Given the description of an element on the screen output the (x, y) to click on. 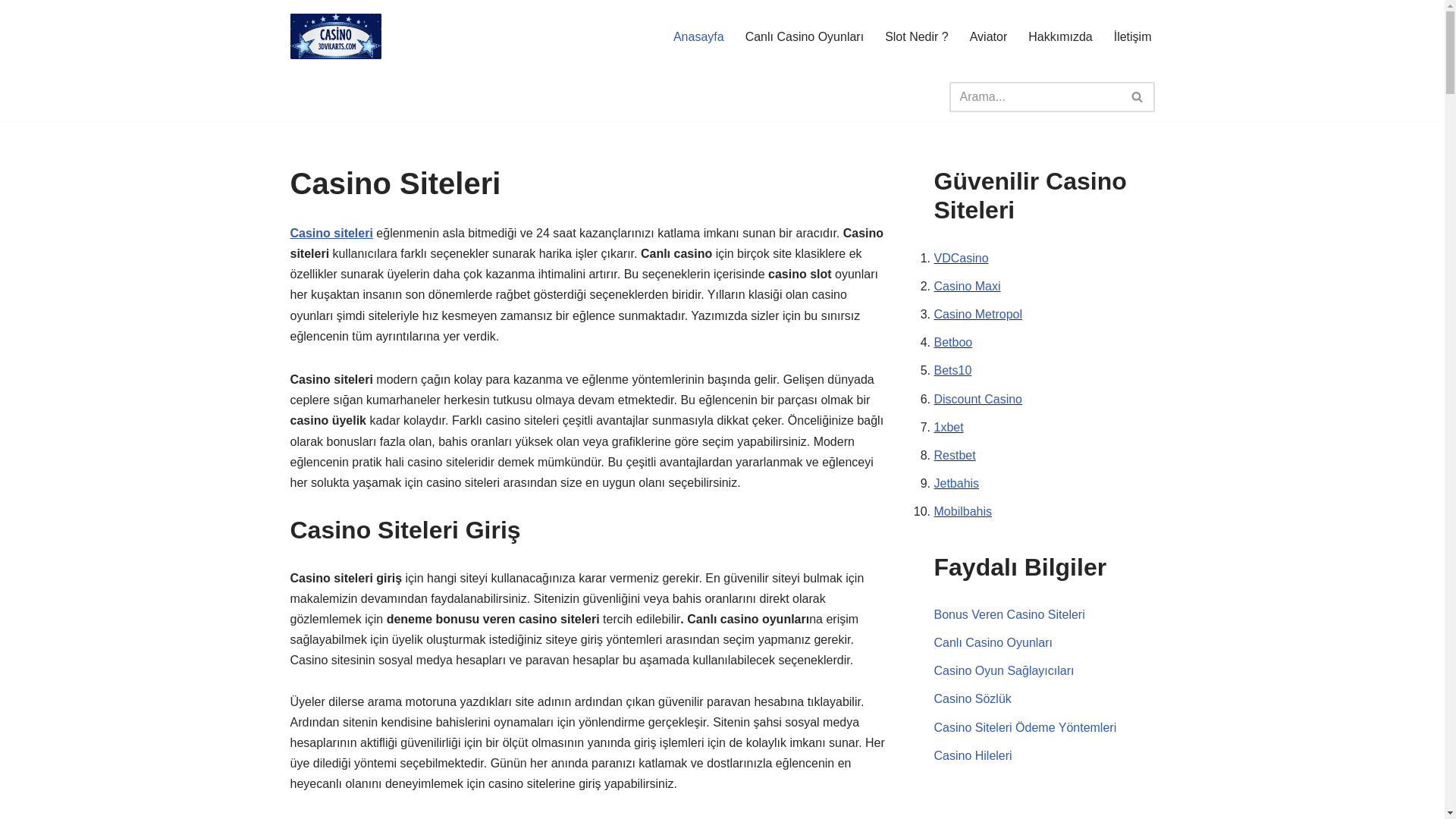
Bonus Veren Casino Siteleri Element type: text (1009, 614)
Casino Metropol Element type: text (978, 313)
Aviator Element type: text (988, 36)
VDCasino Element type: text (961, 257)
Slot Nedir ? Element type: text (916, 36)
Discount Casino Element type: text (978, 398)
Casino siteleri Element type: text (330, 232)
Anasayfa Element type: text (698, 36)
Betboo Element type: text (953, 341)
Casino Hileleri Element type: text (973, 755)
Casino Maxi Element type: text (967, 285)
Restbet Element type: text (954, 454)
1xbet Element type: text (948, 426)
Mobilbahis Element type: text (962, 511)
Jetbahis Element type: text (956, 482)
Bets10 Element type: text (953, 370)
